Given the description of an element on the screen output the (x, y) to click on. 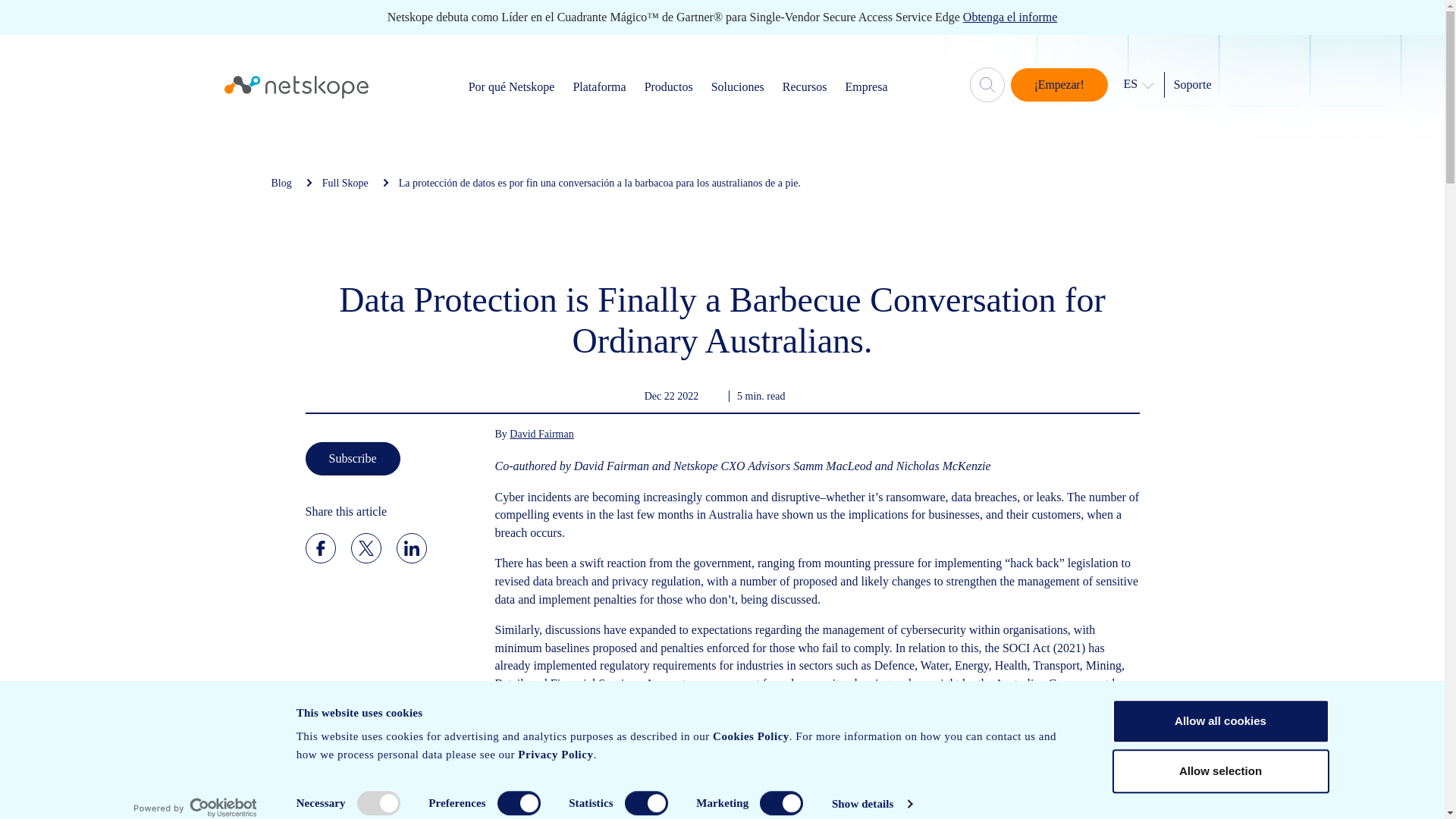
Cookies Policy (751, 736)
Show details (871, 803)
Privacy Policy (555, 754)
